Given the description of an element on the screen output the (x, y) to click on. 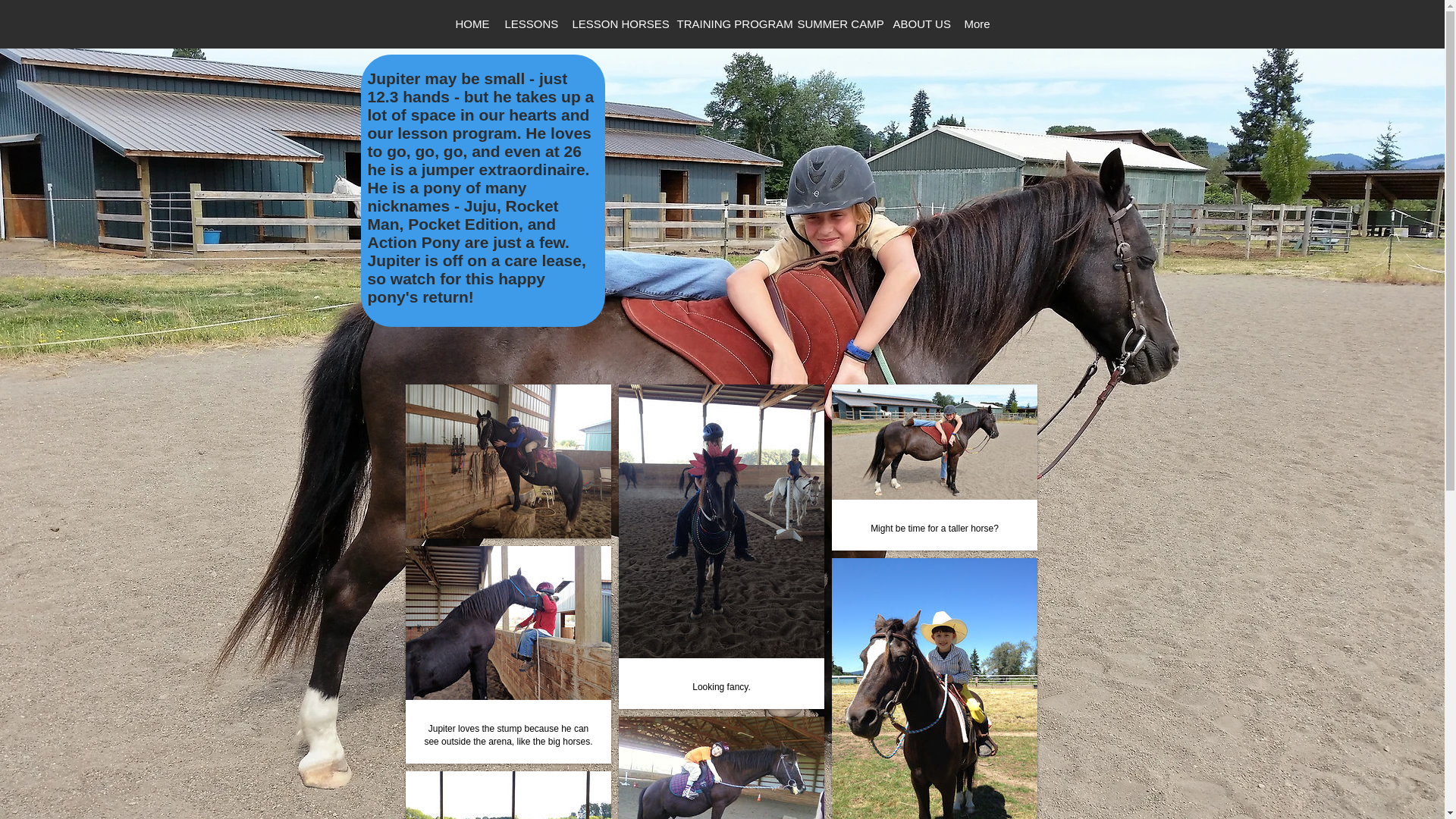
HOME (470, 24)
SUMMER CAMP (834, 24)
ABOUT US (917, 24)
LESSON HORSES (614, 24)
TRAINING PROGRAM (726, 24)
LESSONS (528, 24)
